Given the description of an element on the screen output the (x, y) to click on. 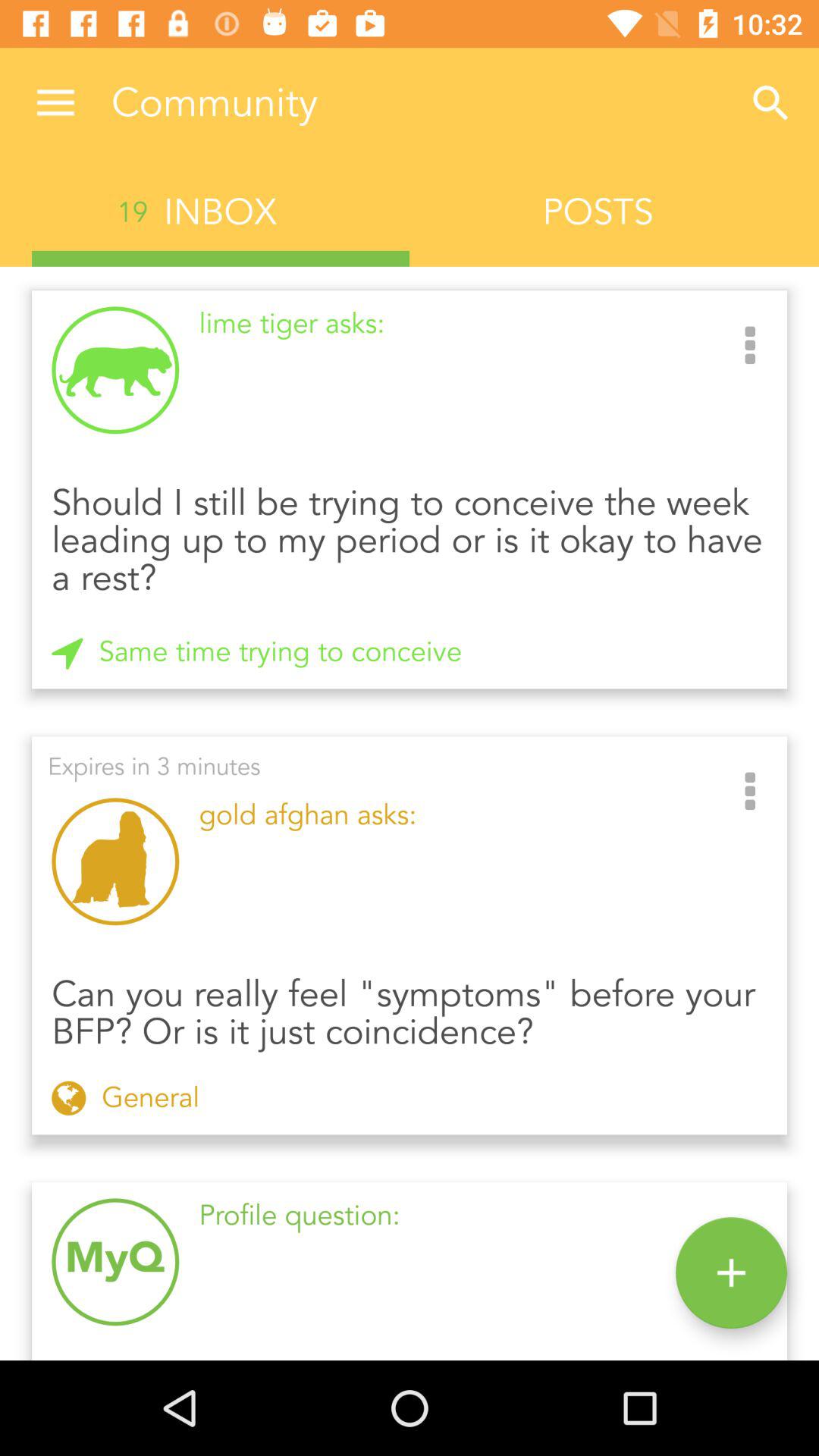
turn on item above 19 icon (55, 103)
